Given the description of an element on the screen output the (x, y) to click on. 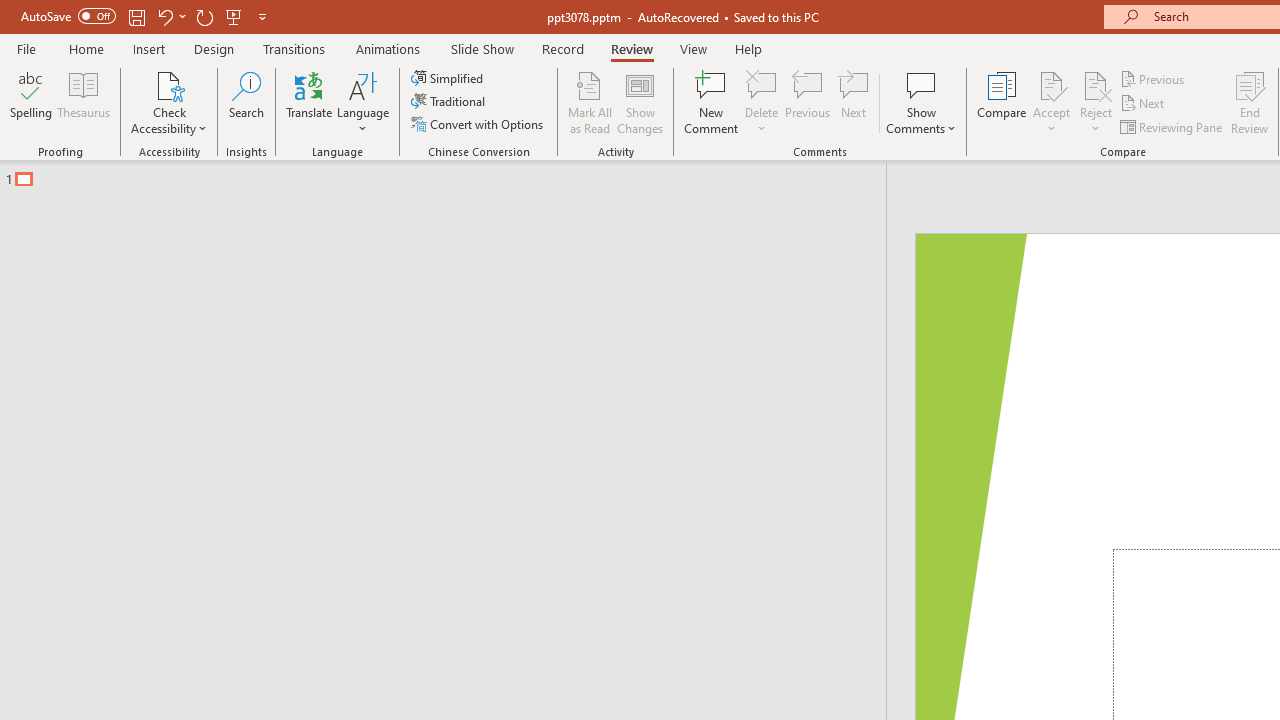
Next (1144, 103)
Translate (309, 102)
Traditional (449, 101)
Reject (1096, 102)
New Comment (711, 102)
End Review (1249, 102)
